Given the description of an element on the screen output the (x, y) to click on. 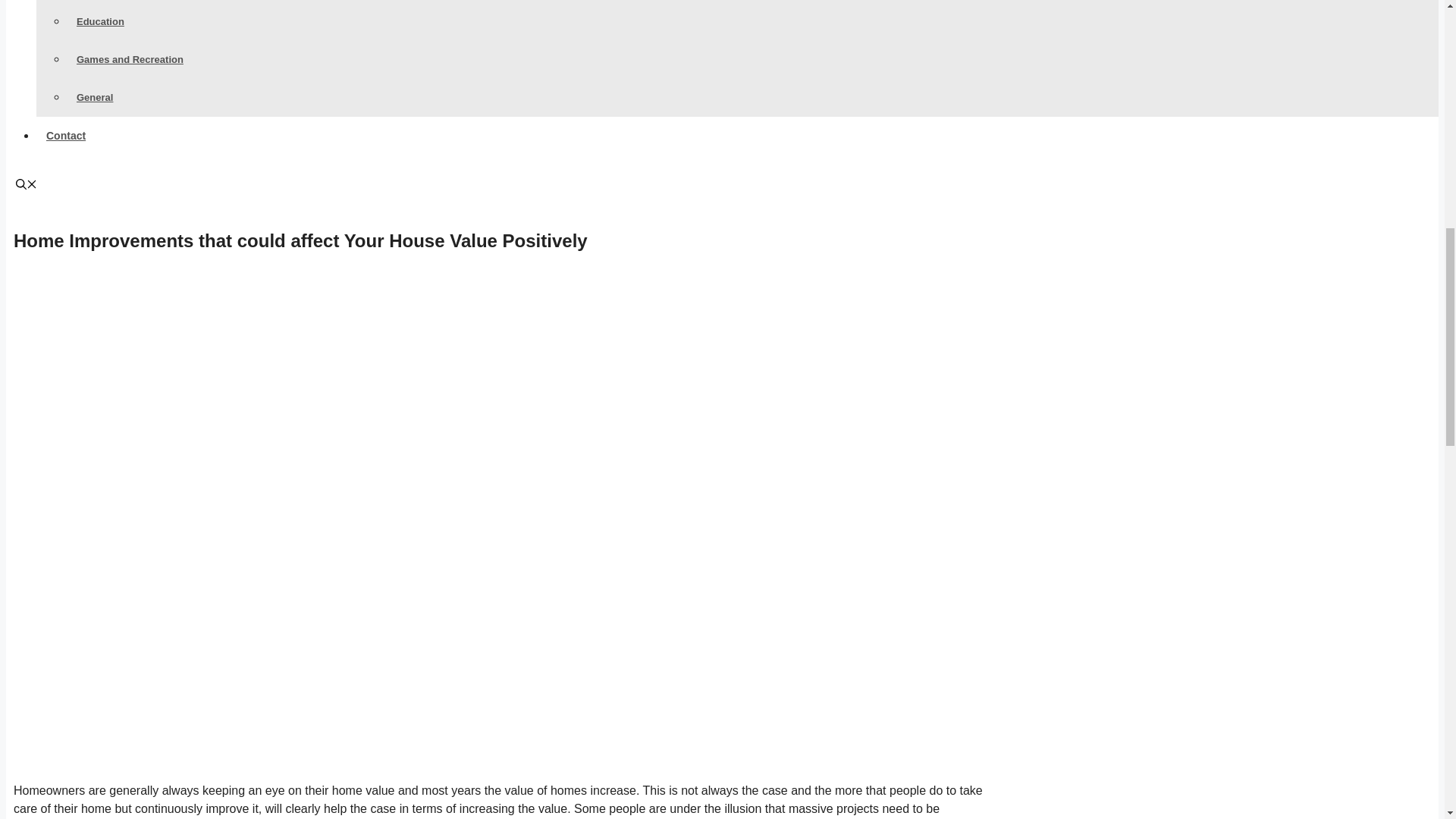
General (94, 97)
Contact (66, 135)
Education (99, 21)
Games and Recreation (129, 58)
